Given the description of an element on the screen output the (x, y) to click on. 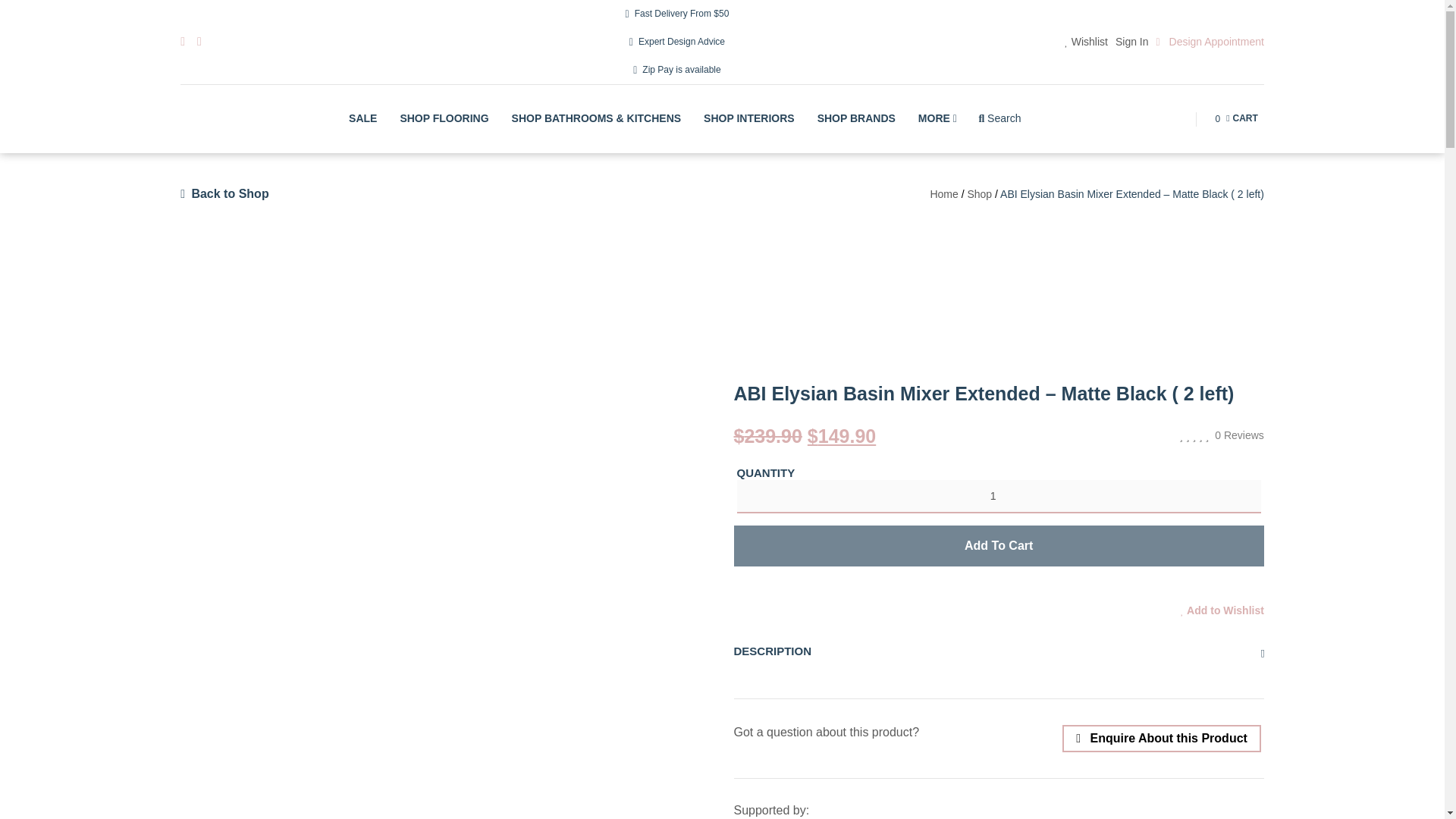
1 (998, 496)
Sign In (1131, 41)
SALE (362, 118)
Wishlist (1086, 41)
Design Appointment (1209, 41)
Expert Design Advice (1235, 119)
Zip Pay is available (677, 41)
SHOP FLOORING (677, 70)
